Given the description of an element on the screen output the (x, y) to click on. 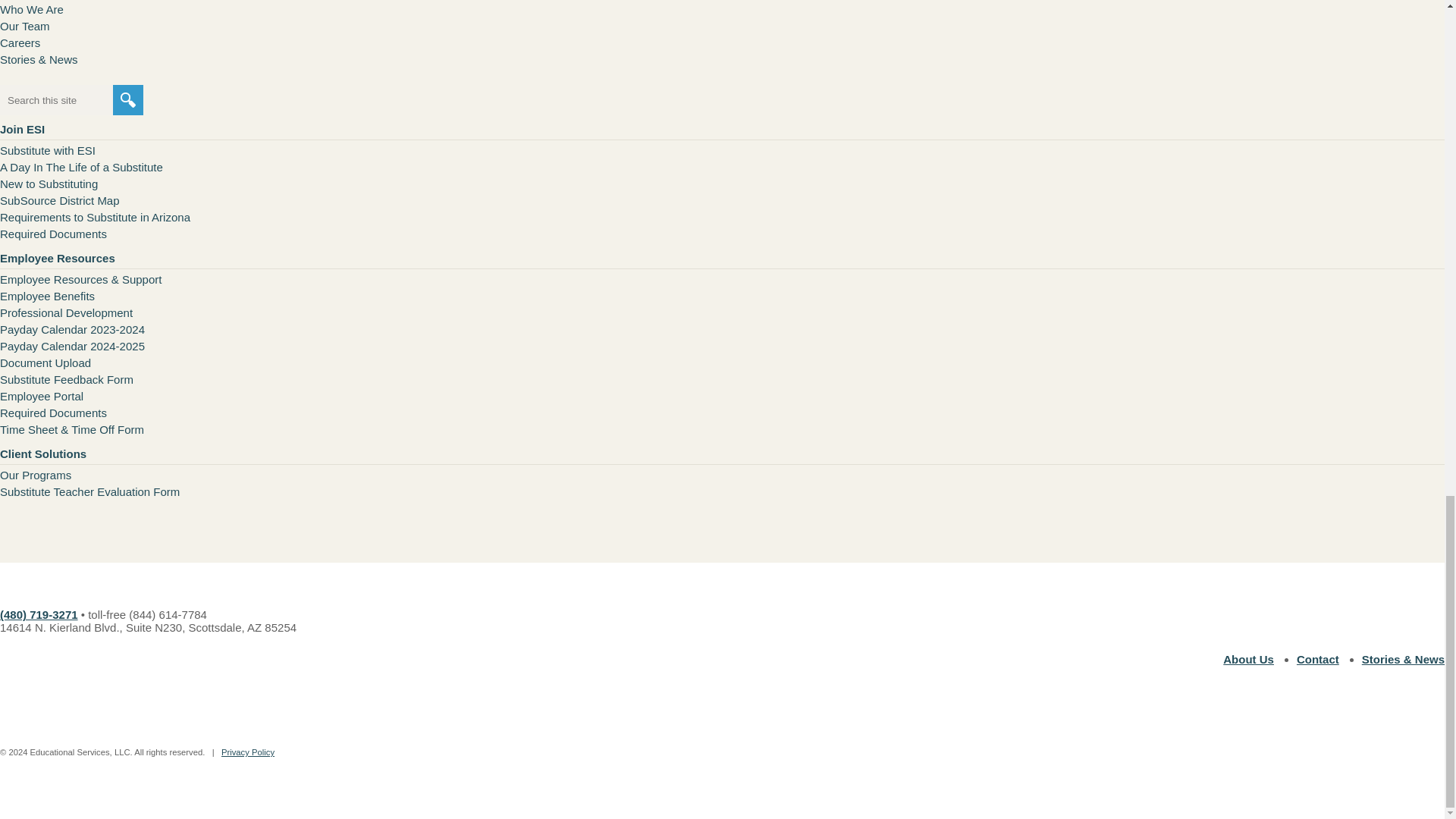
Enter the terms you wish to search for. (56, 100)
Search (127, 100)
